Given the description of an element on the screen output the (x, y) to click on. 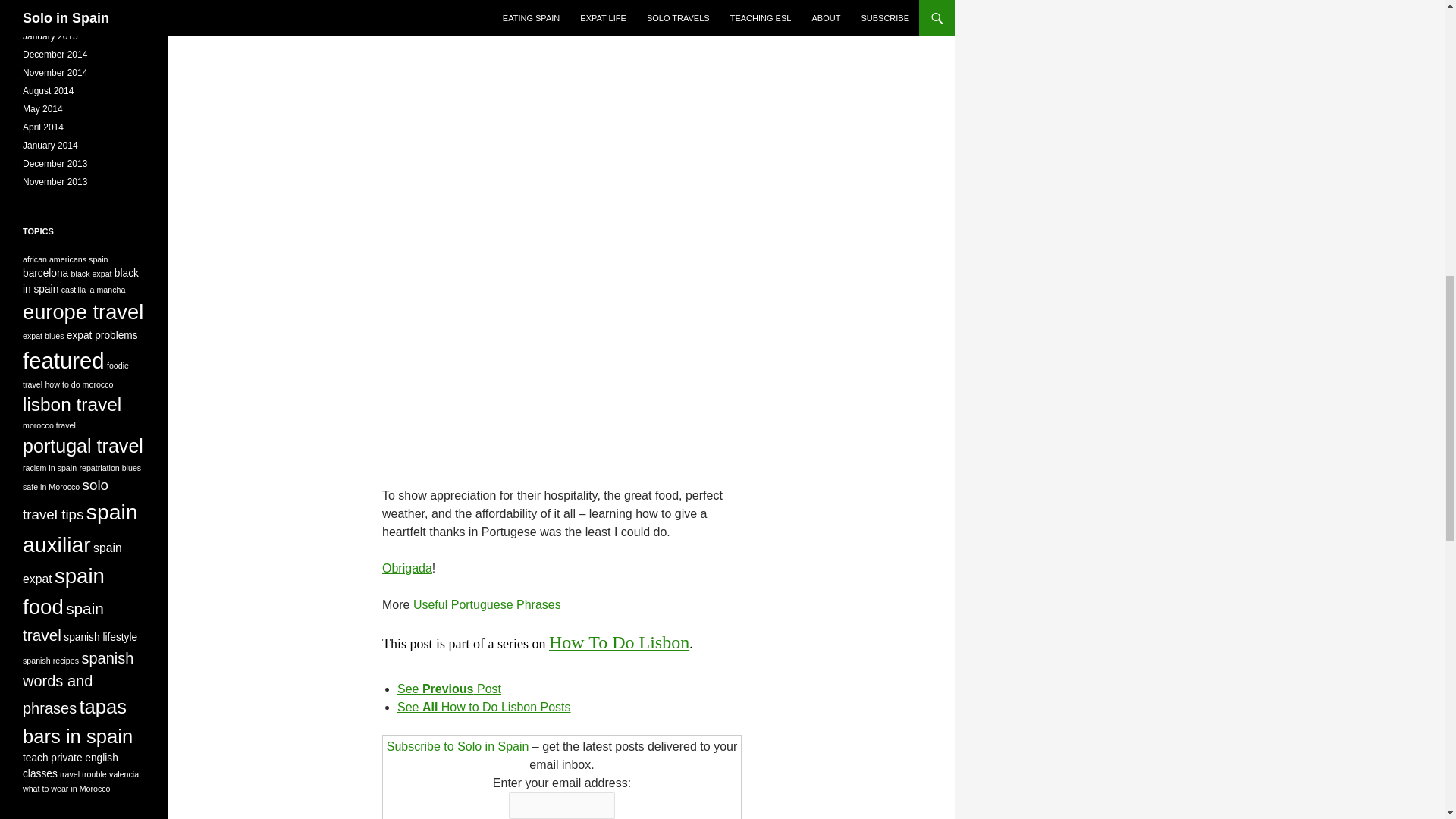
See Previous Post (448, 688)
How To Do Lisbon (618, 641)
Useful Portuguese Phrases (486, 604)
Obrigada (406, 567)
Subscribe to Solo in Spain (458, 746)
See All How to Do Lisbon Posts (483, 707)
